Given the description of an element on the screen output the (x, y) to click on. 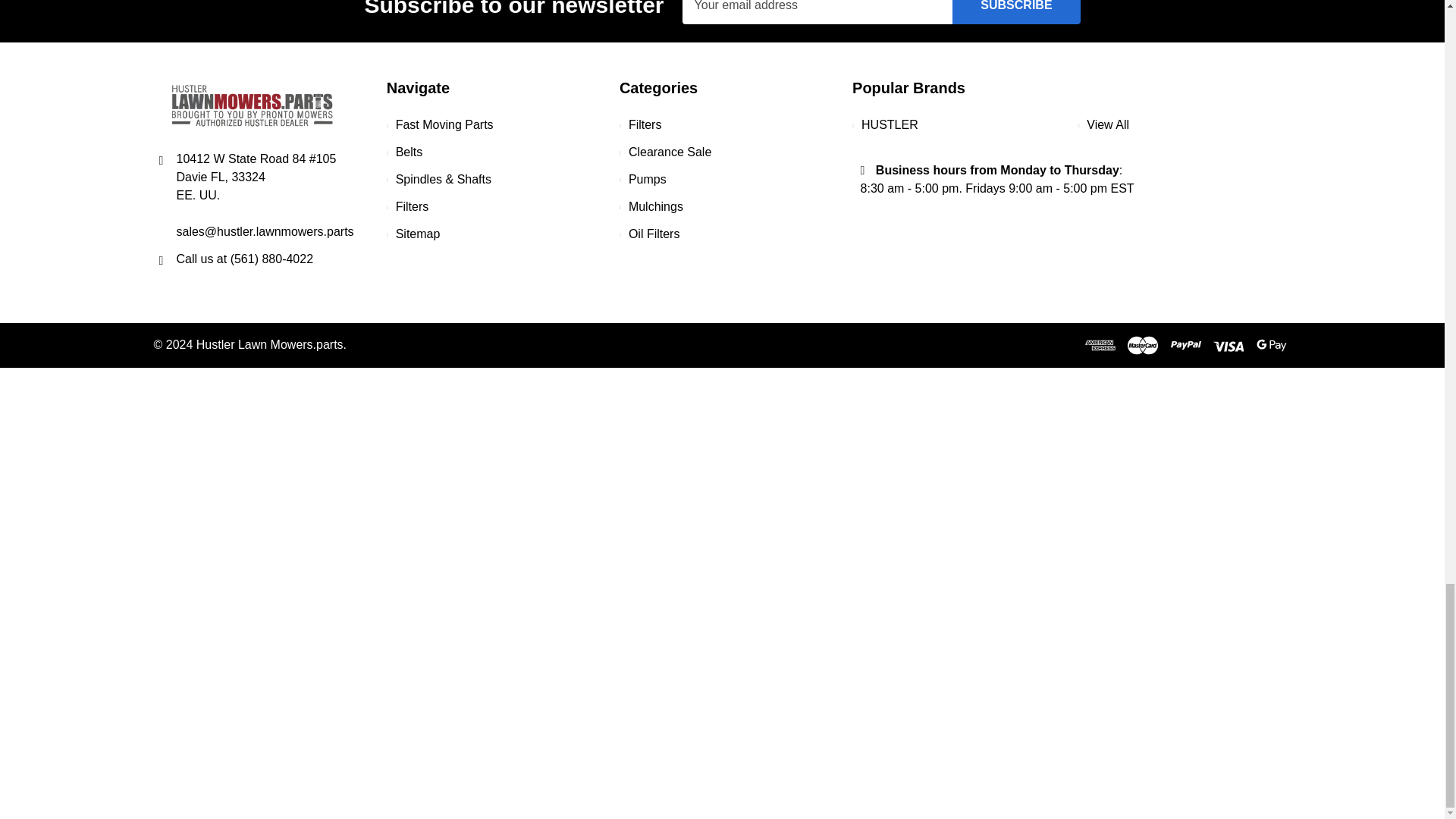
Subscribe (1016, 12)
Hustler Lawn Mowers.parts (251, 104)
